Given the description of an element on the screen output the (x, y) to click on. 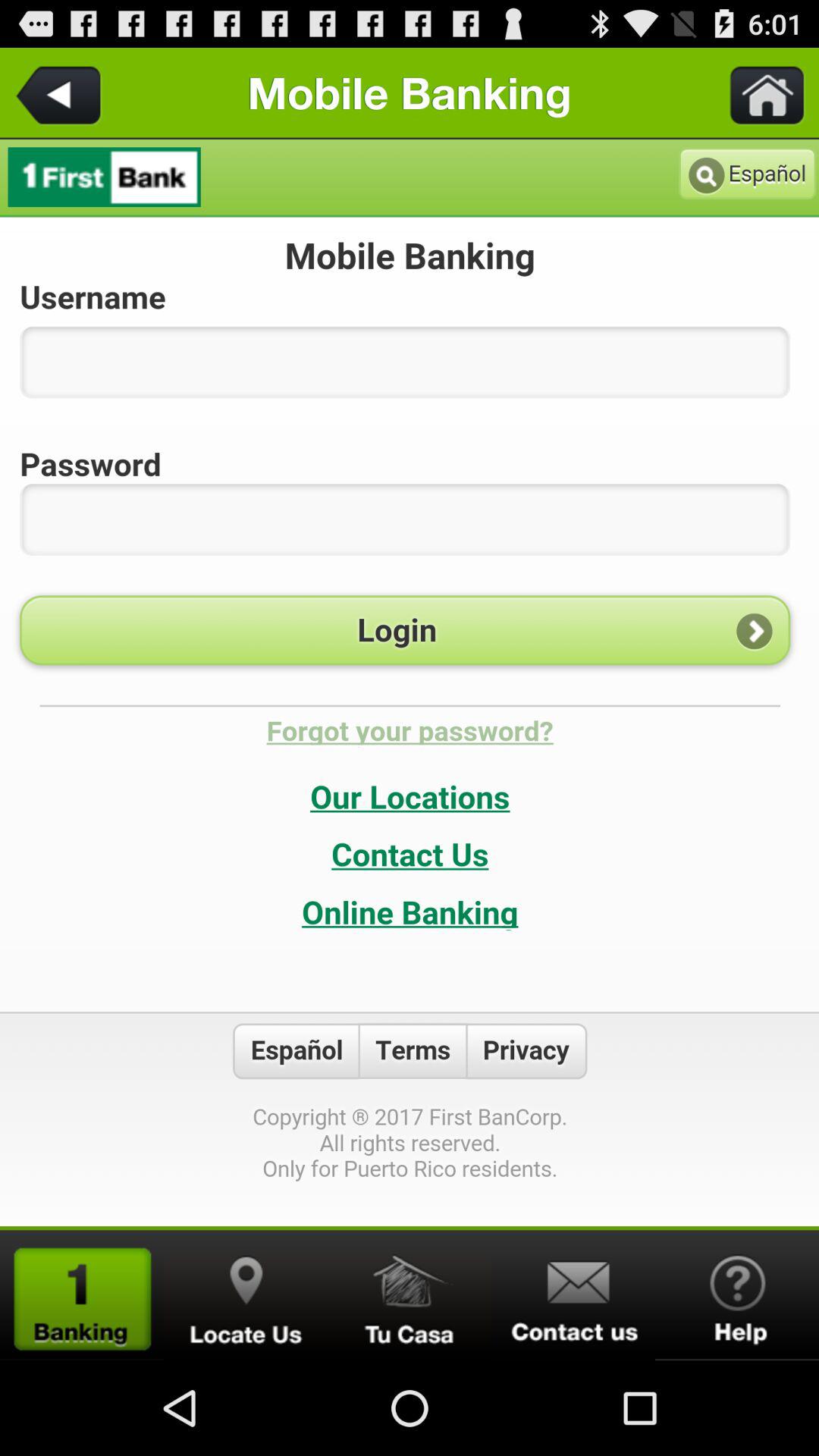
go to previous (61, 92)
